Given the description of an element on the screen output the (x, y) to click on. 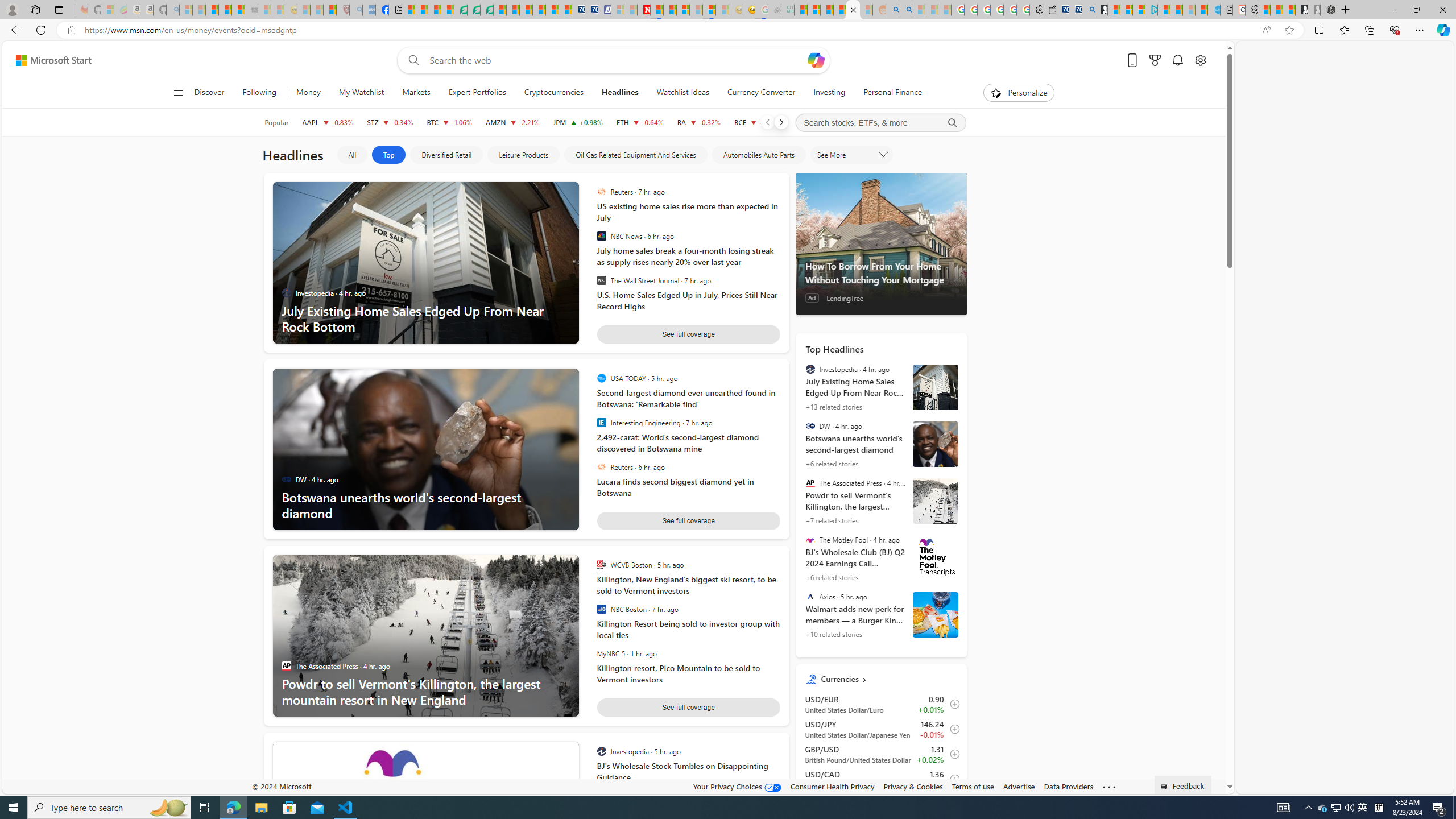
Data Providers (1068, 786)
Advertise (1019, 786)
DW 4 hr. ago (316, 479)
See more (1108, 787)
How To Borrow From Your Home Without Touching Your Mortgage (880, 243)
BCE BCE Inc decrease 34.55 -0.07 -0.20% (756, 122)
Your Privacy Choices (737, 785)
Investing (828, 92)
How To Borrow From Your Home Without Touching Your Mortgage (881, 273)
